Given the description of an element on the screen output the (x, y) to click on. 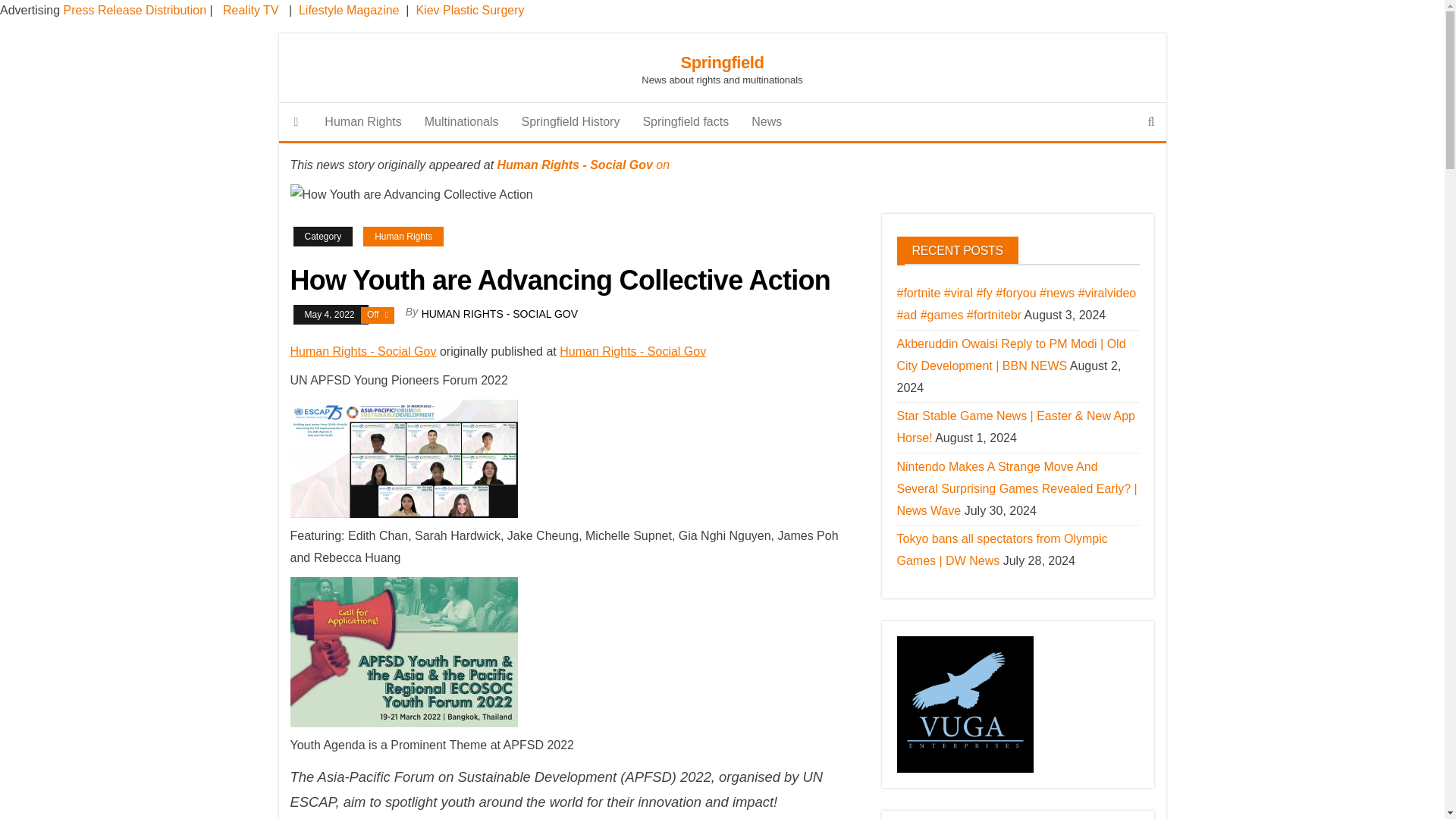
Springfield (720, 62)
Springfield History (571, 121)
News (766, 121)
Kiev Plastic Surgery (469, 10)
How Youth are Advancing Collective Action (410, 195)
Springfield History (571, 121)
Springfield (296, 121)
Reality TV (250, 10)
Human Rights (403, 236)
Human Rights (362, 121)
Springfield facts (684, 121)
Multinationals (462, 121)
HUMAN RIGHTS - SOCIAL GOV (500, 313)
Human Rights (362, 121)
